Given the description of an element on the screen output the (x, y) to click on. 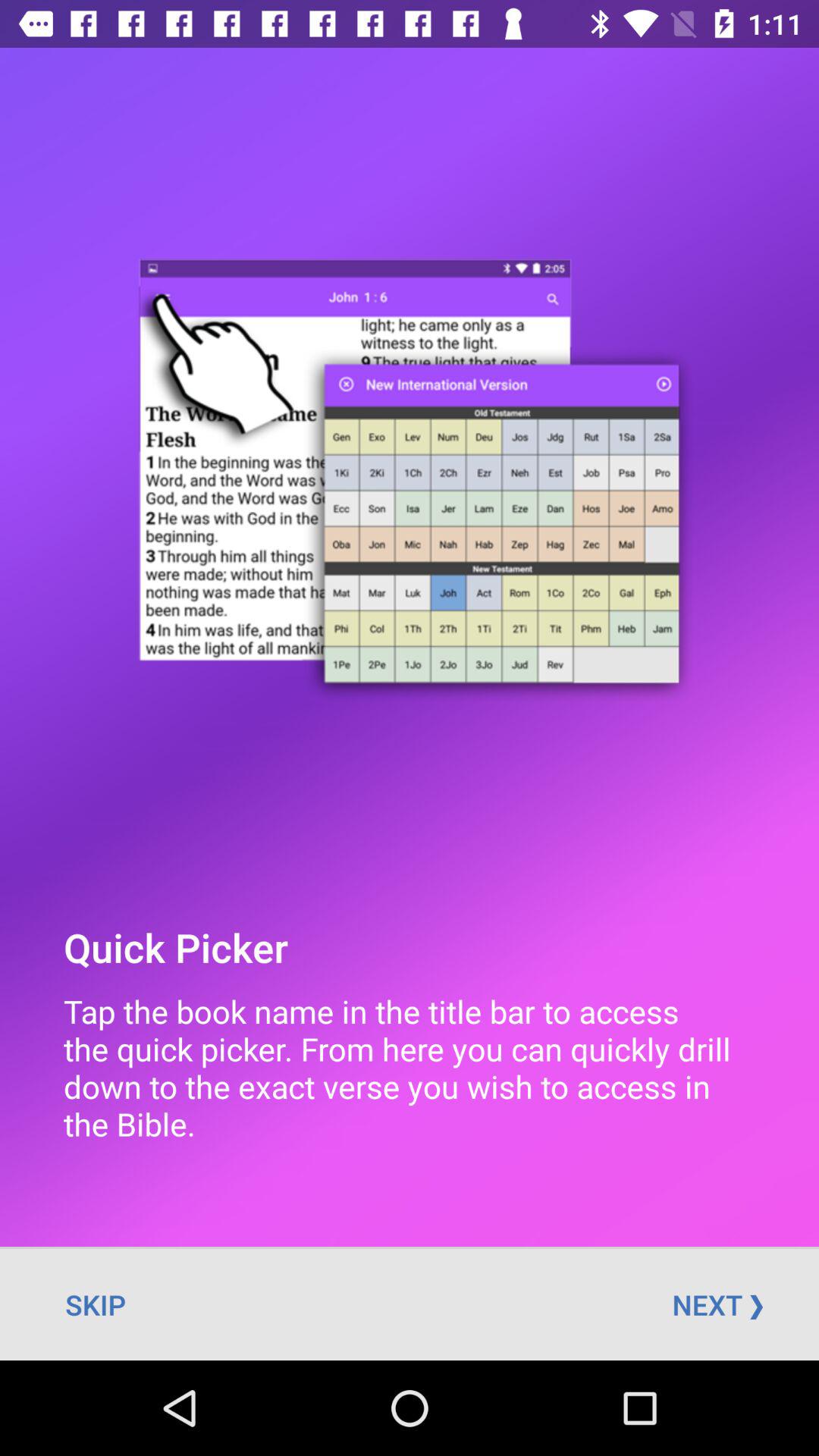
tap item at the bottom right corner (717, 1304)
